Given the description of an element on the screen output the (x, y) to click on. 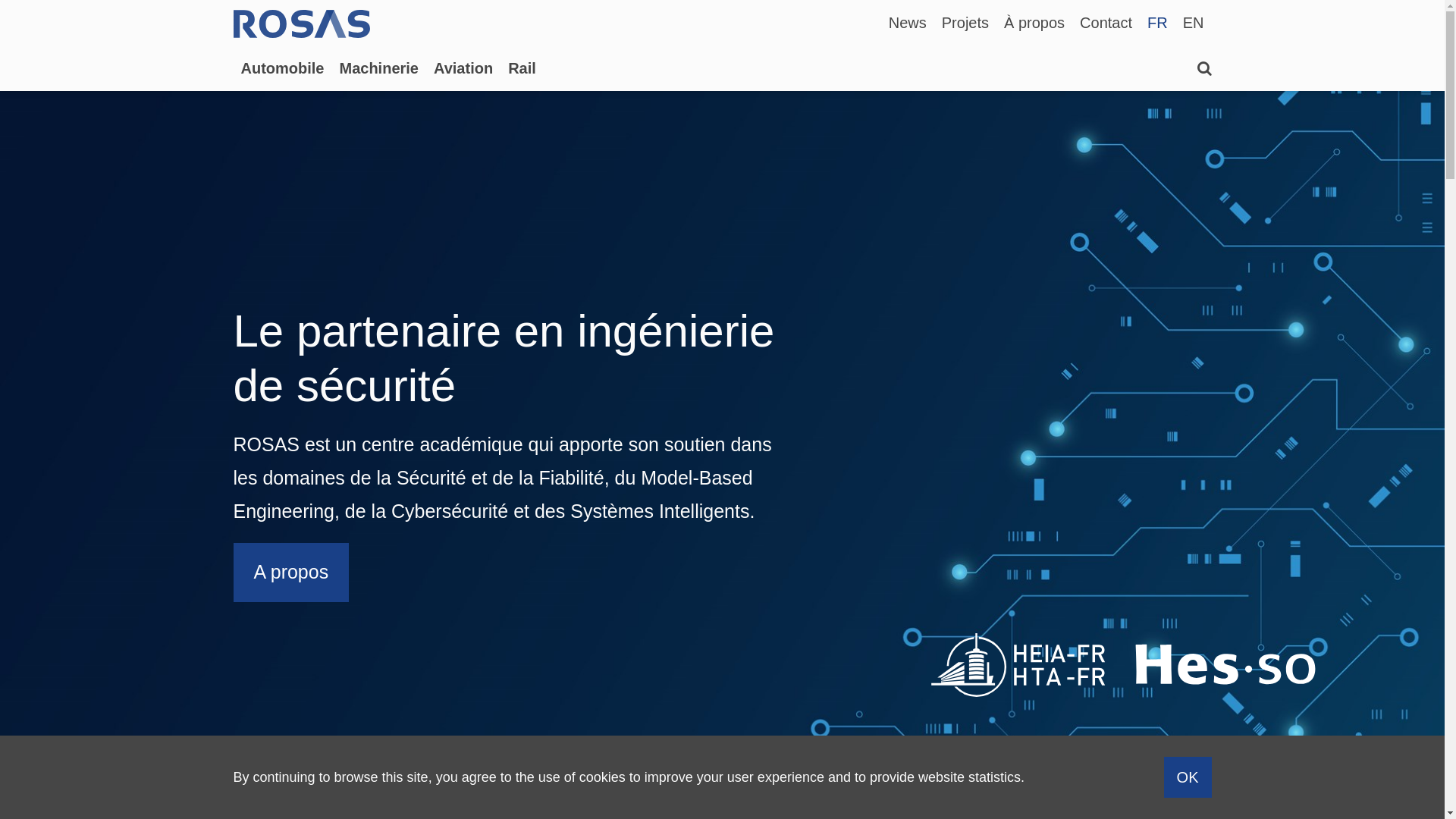
Rail Element type: text (521, 67)
Aviation Element type: text (463, 67)
A propos Element type: text (291, 572)
Machinerie Element type: text (379, 67)
News Element type: text (907, 22)
FR Element type: text (1157, 22)
Automobile Element type: text (282, 67)
OK Element type: text (1187, 776)
Contact Element type: text (1105, 22)
Projets Element type: text (965, 22)
EN Element type: text (1193, 22)
